Given the description of an element on the screen output the (x, y) to click on. 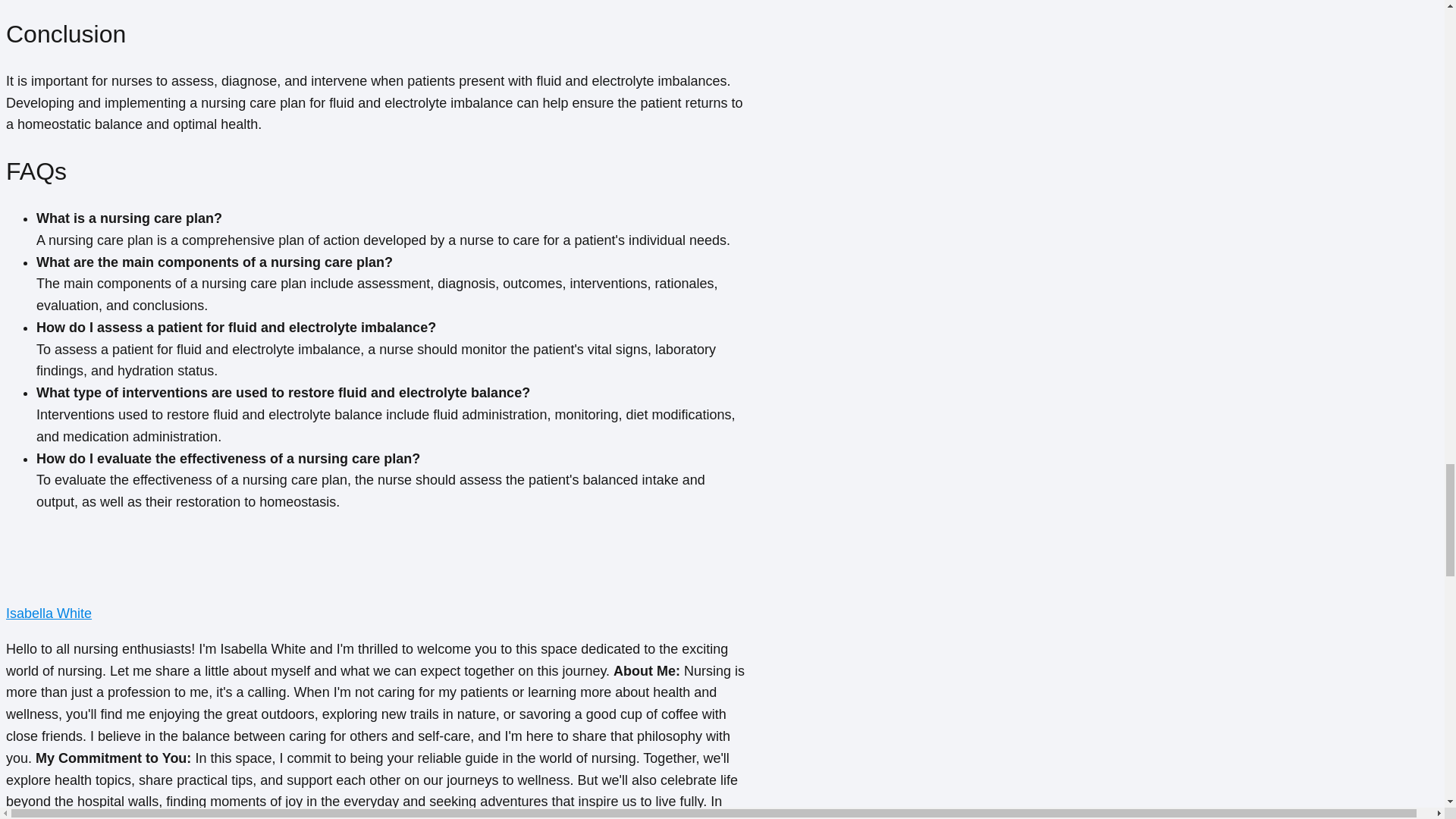
Isabella White (48, 613)
